Given the description of an element on the screen output the (x, y) to click on. 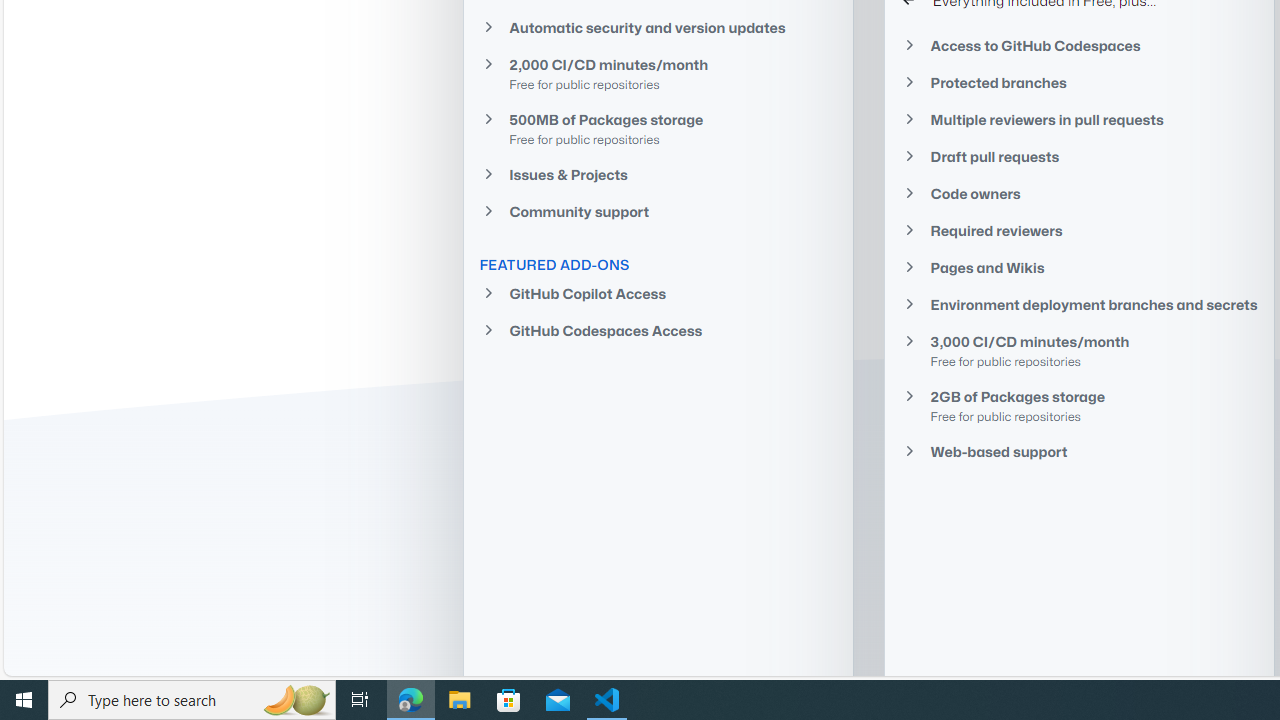
2,000 CI/CD minutes/monthFree for public repositories (657, 73)
2GB of Packages storageFree for public repositories (1079, 405)
Web-based support (1079, 451)
2,000 CI/CD minutes/month Free for public repositories (657, 74)
Environment deployment branches and secrets (1079, 304)
Code owners (1079, 193)
Required reviewers (1079, 229)
Access to GitHub Codespaces (1079, 45)
Environment deployment branches and secrets (1079, 304)
Pages and Wikis (1079, 267)
Multiple reviewers in pull requests (1079, 119)
Community support (657, 211)
Required reviewers (1079, 230)
Community support (657, 211)
Automatic security and version updates (657, 26)
